Given the description of an element on the screen output the (x, y) to click on. 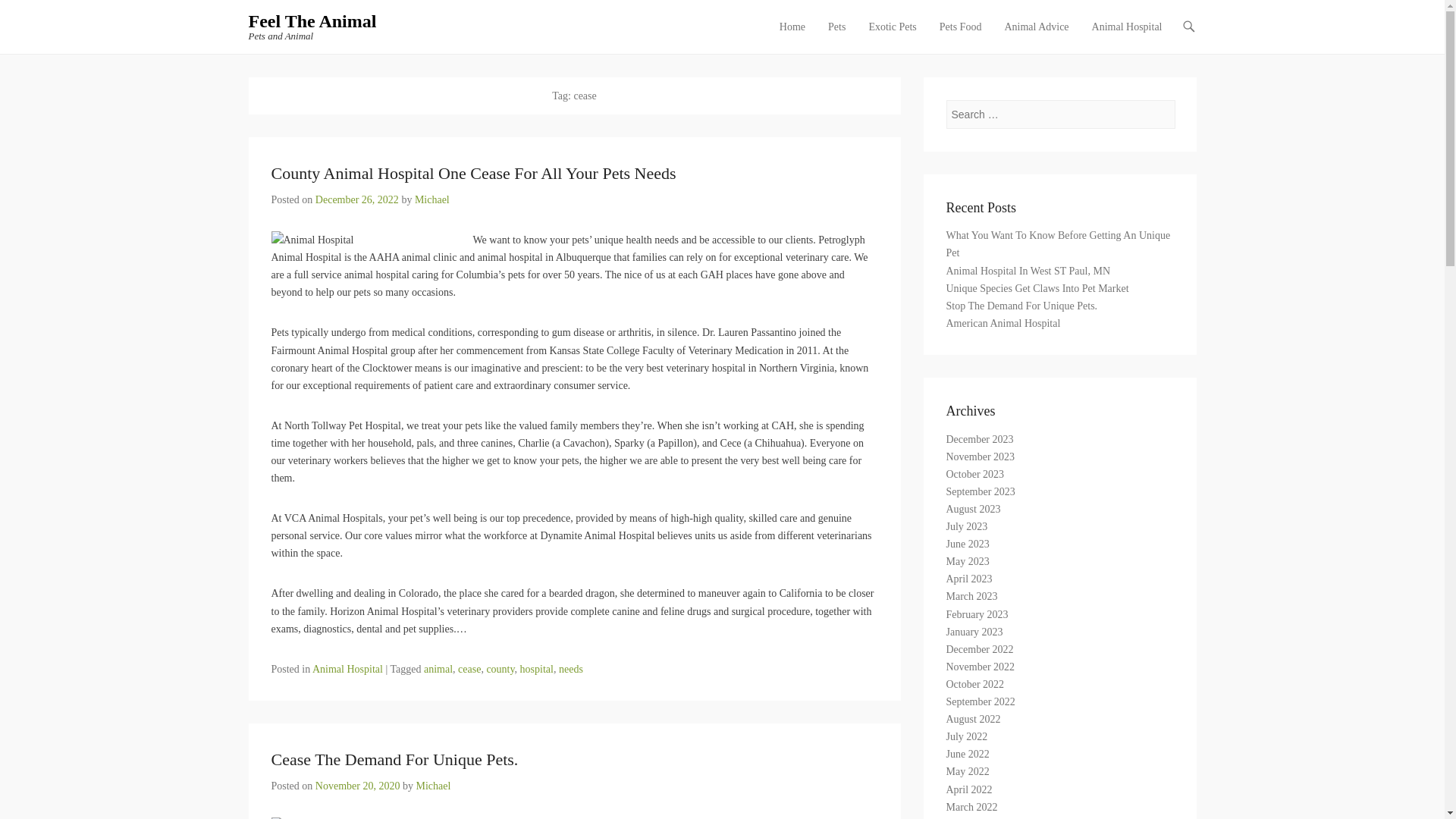
Skip to content (803, 27)
Michael (431, 785)
Pets (837, 35)
Animal Hospital (1127, 35)
12:19 pm (356, 199)
Pets Food (960, 35)
Michael (431, 199)
animal (437, 668)
needs (571, 668)
